Given the description of an element on the screen output the (x, y) to click on. 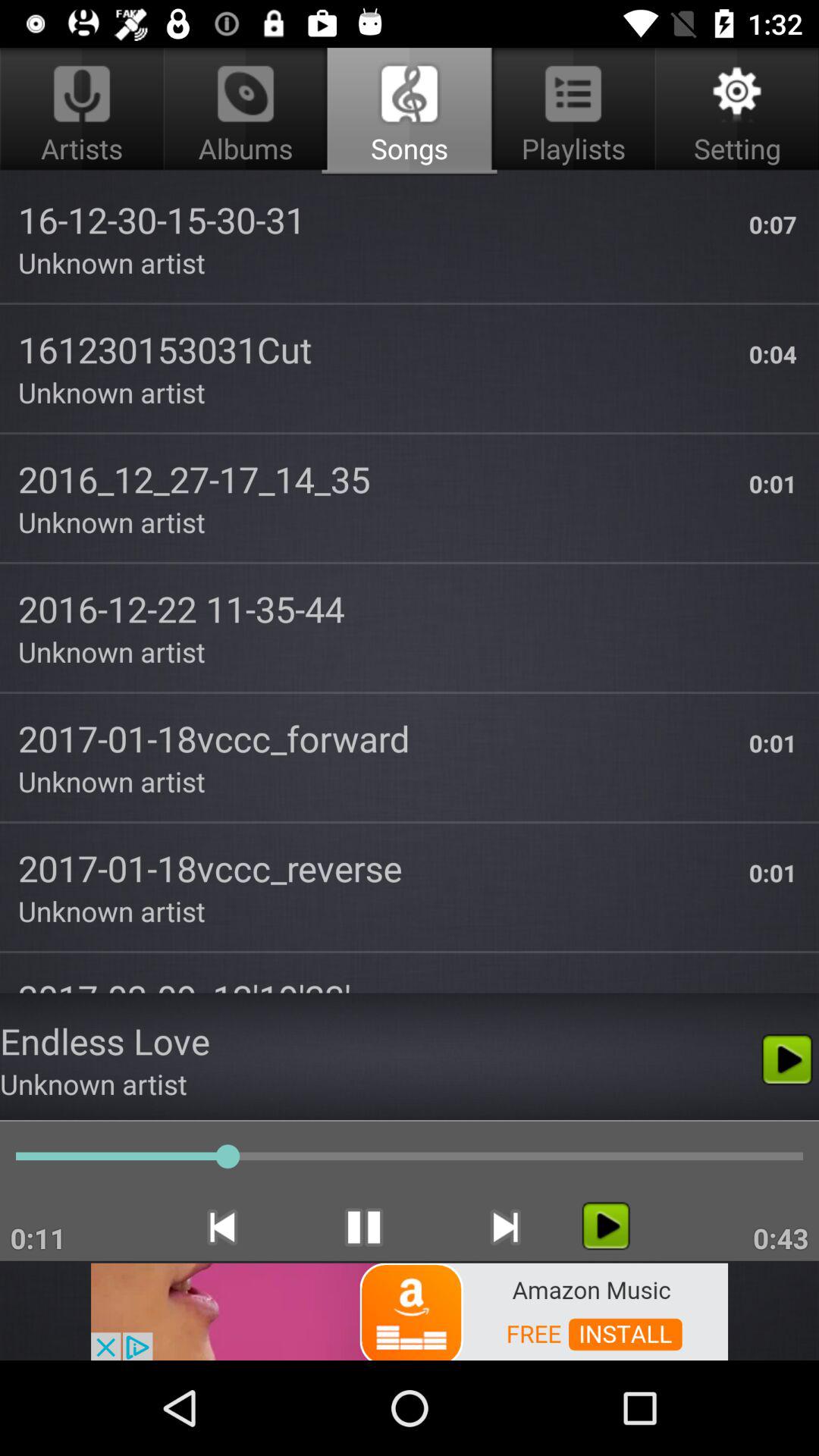
open advertisement (409, 1310)
